Given the description of an element on the screen output the (x, y) to click on. 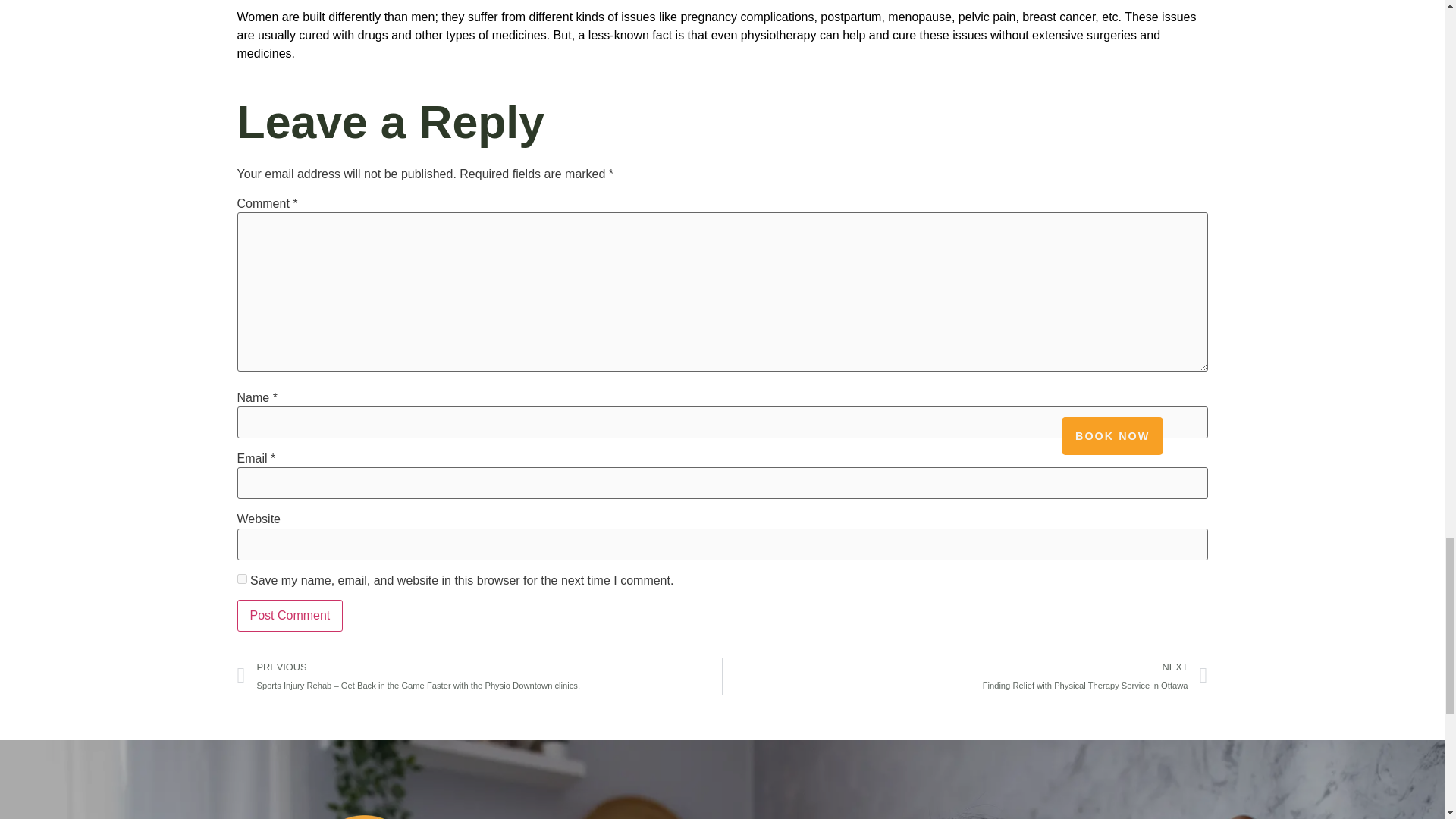
Post Comment (288, 615)
yes (240, 578)
Post Comment (965, 676)
